Given the description of an element on the screen output the (x, y) to click on. 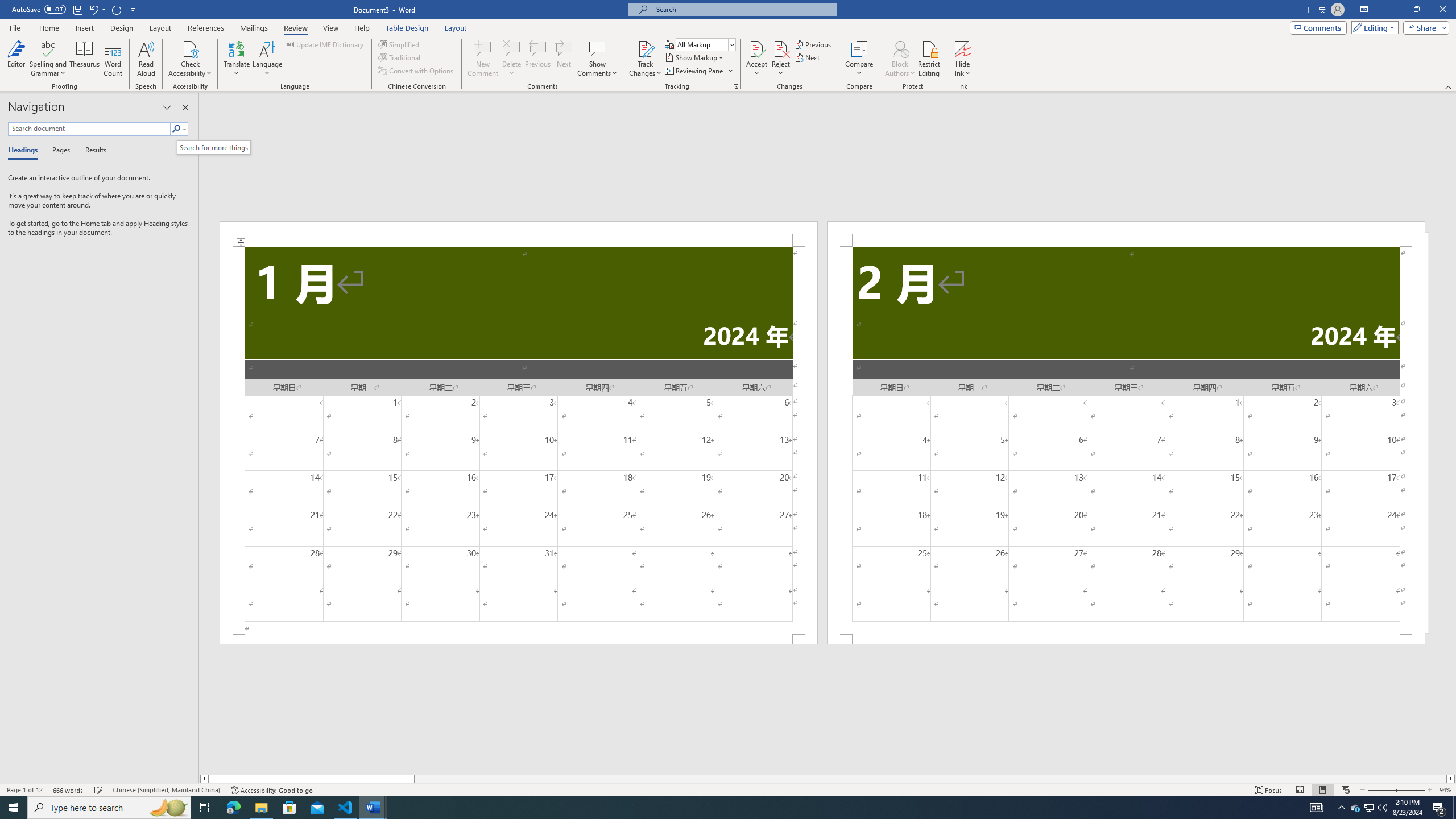
Page Number Page 1 of 12 (24, 790)
Hide Ink (962, 58)
Show Comments (597, 58)
Show Comments (597, 48)
Spelling and Grammar (48, 48)
Show Markup (695, 56)
Display for Review (705, 44)
Page 1 content (518, 439)
Footer -Section 2- (1126, 638)
